Given the description of an element on the screen output the (x, y) to click on. 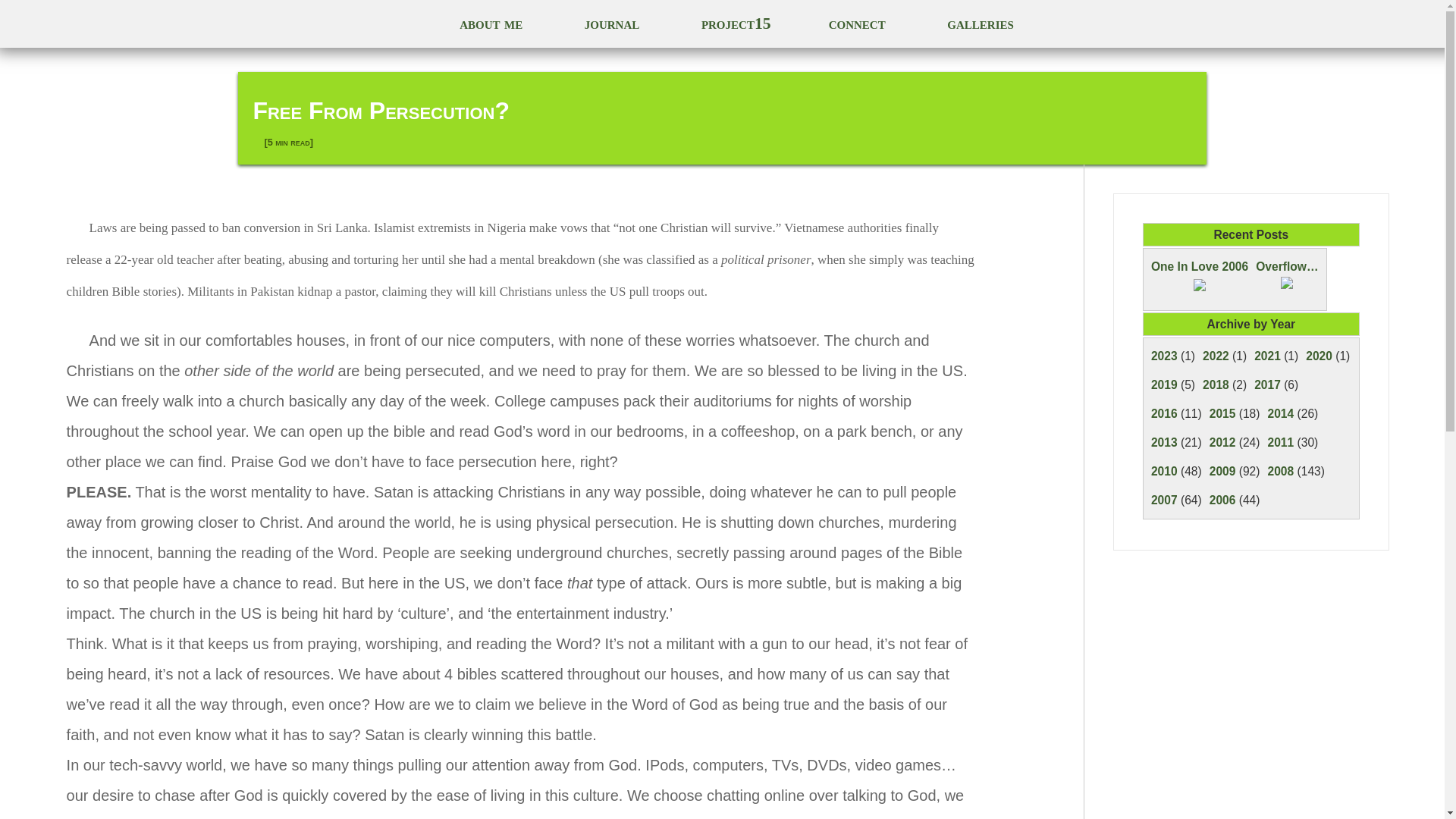
journal (612, 23)
2019 (1164, 384)
2008 (1281, 471)
2010 (1164, 471)
2016 (1164, 413)
One In Love 2006 (1199, 279)
connect (856, 23)
2022 (1215, 355)
2012 (1222, 441)
Free From Persecution? (380, 110)
galleries (980, 23)
2007 (1164, 499)
2009 (1222, 471)
2018 (1215, 384)
2023 (1164, 355)
